Given the description of an element on the screen output the (x, y) to click on. 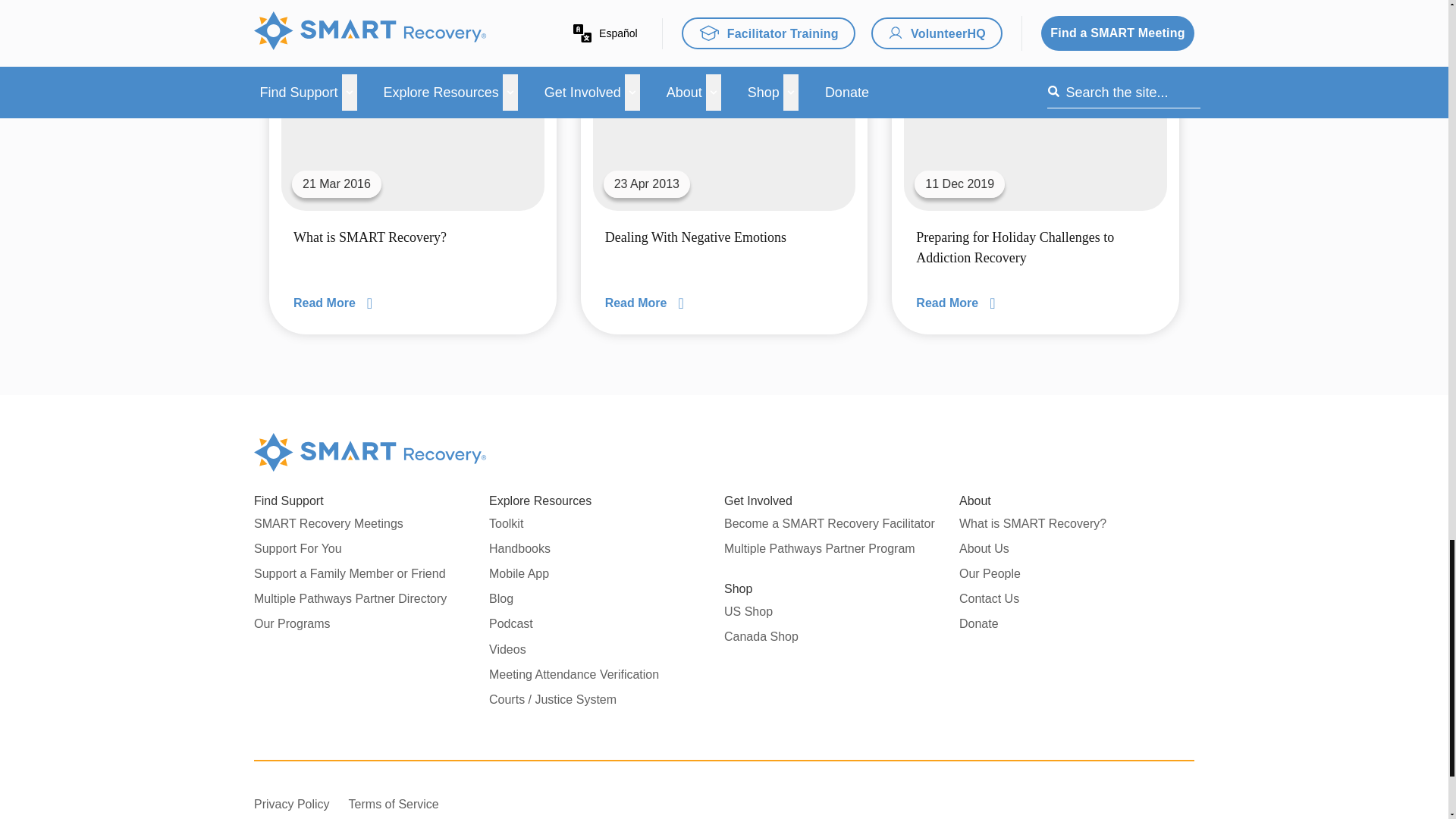
Smart Recovery Logo (369, 452)
